Given the description of an element on the screen output the (x, y) to click on. 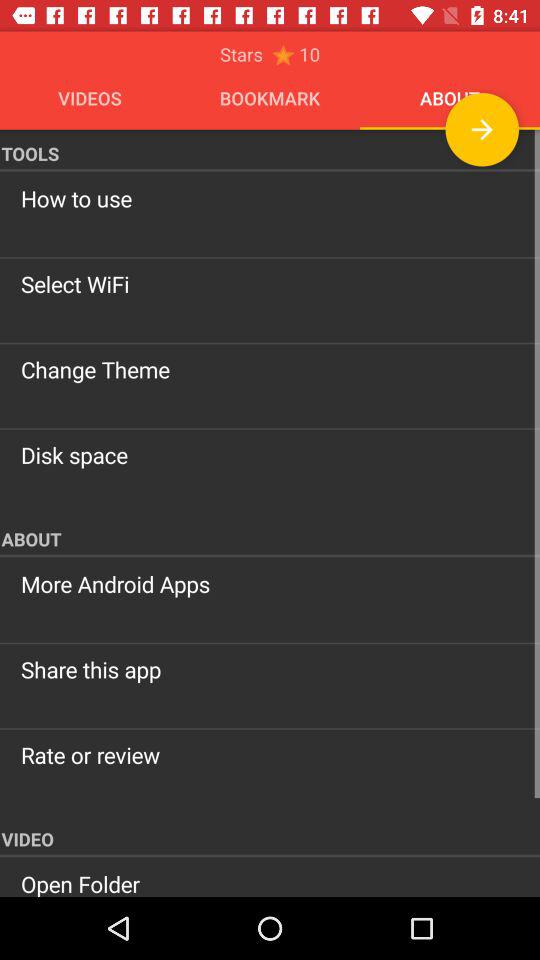
jump until the open folder icon (270, 882)
